Given the description of an element on the screen output the (x, y) to click on. 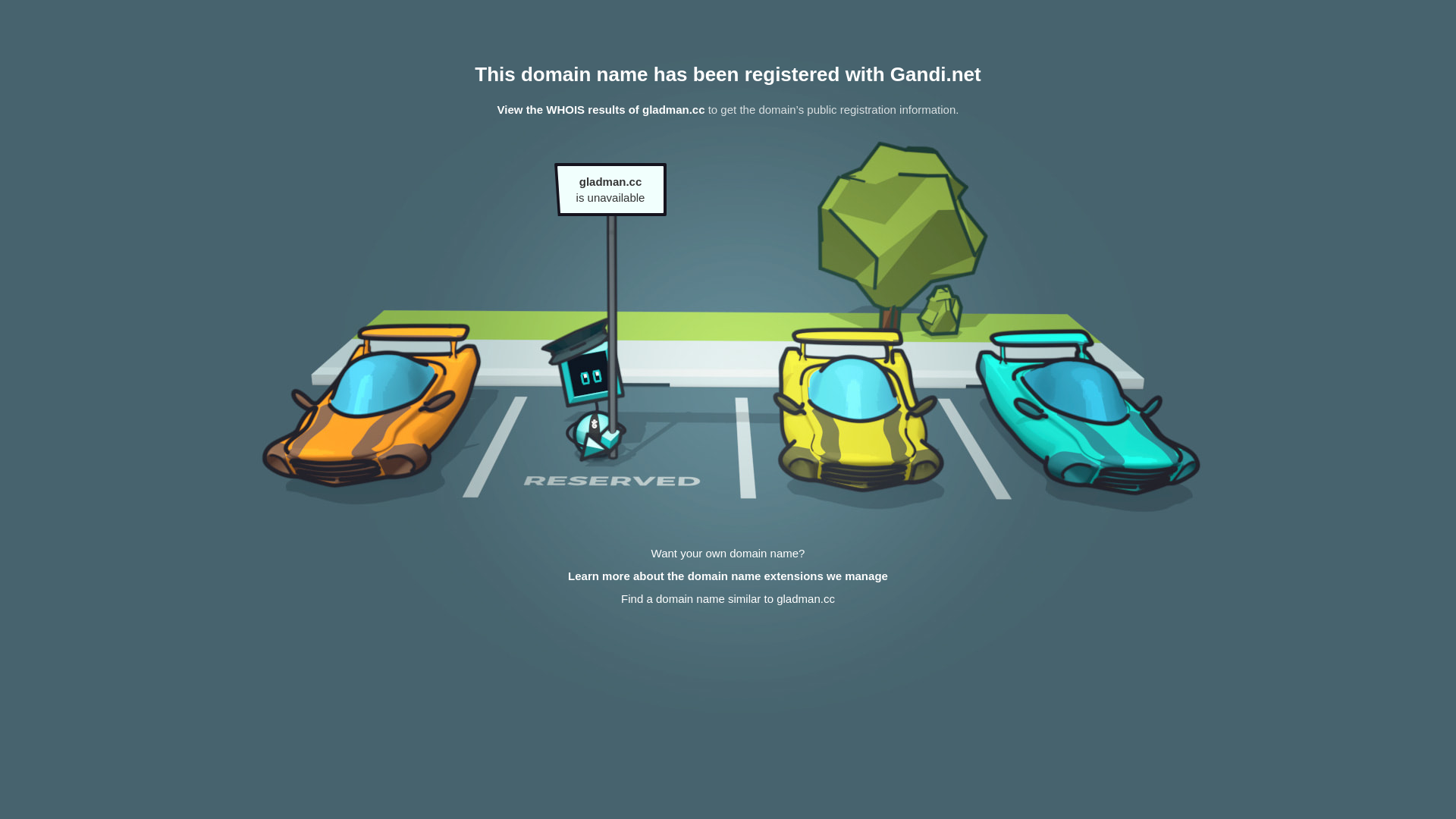
Find a domain name similar to gladman.cc Element type: text (727, 598)
Learn more about the domain name extensions we manage Element type: text (727, 575)
View the WHOIS results of gladman.cc Element type: text (601, 109)
